Given the description of an element on the screen output the (x, y) to click on. 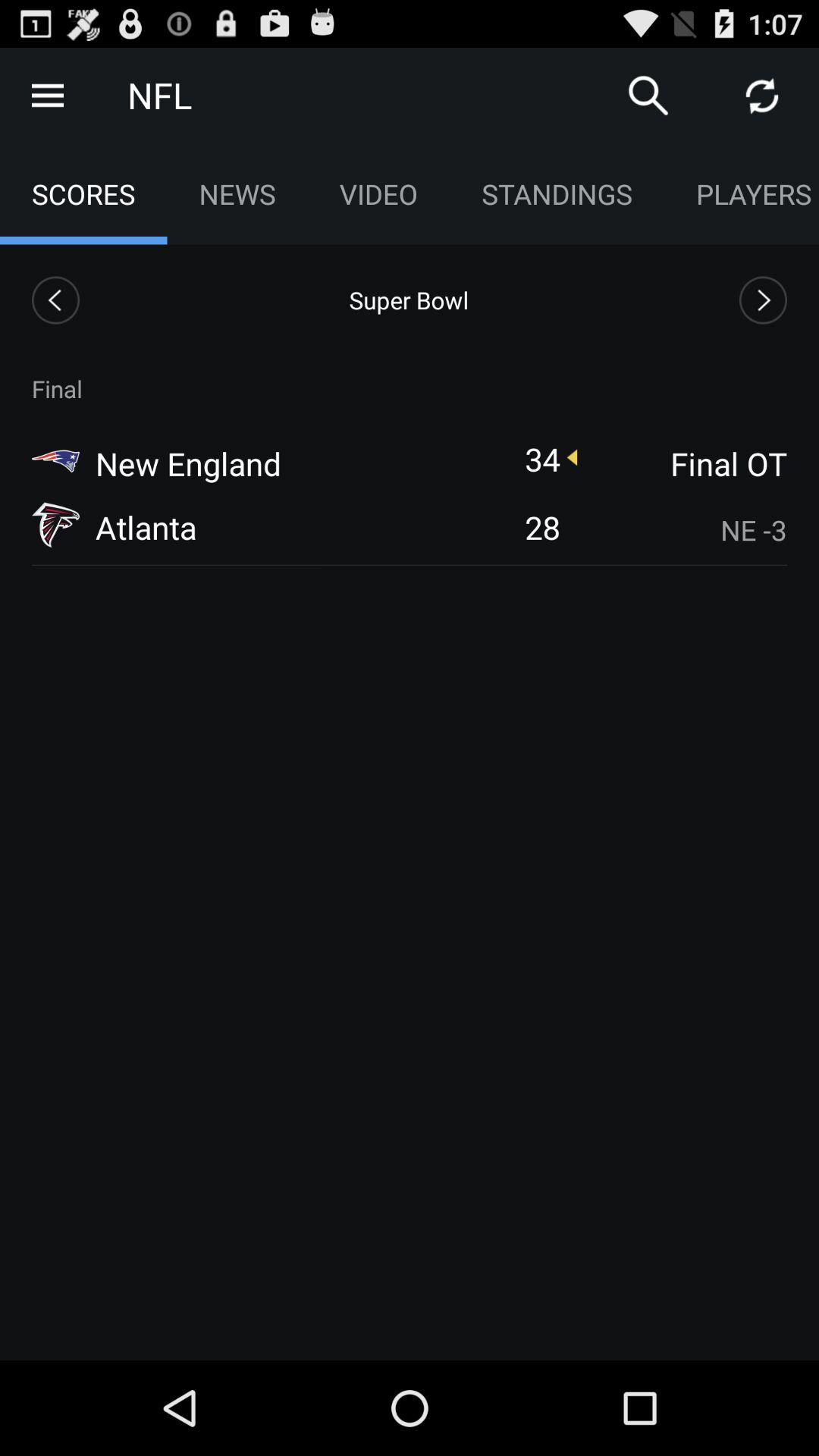
tap the final ot icon (683, 463)
